Given the description of an element on the screen output the (x, y) to click on. 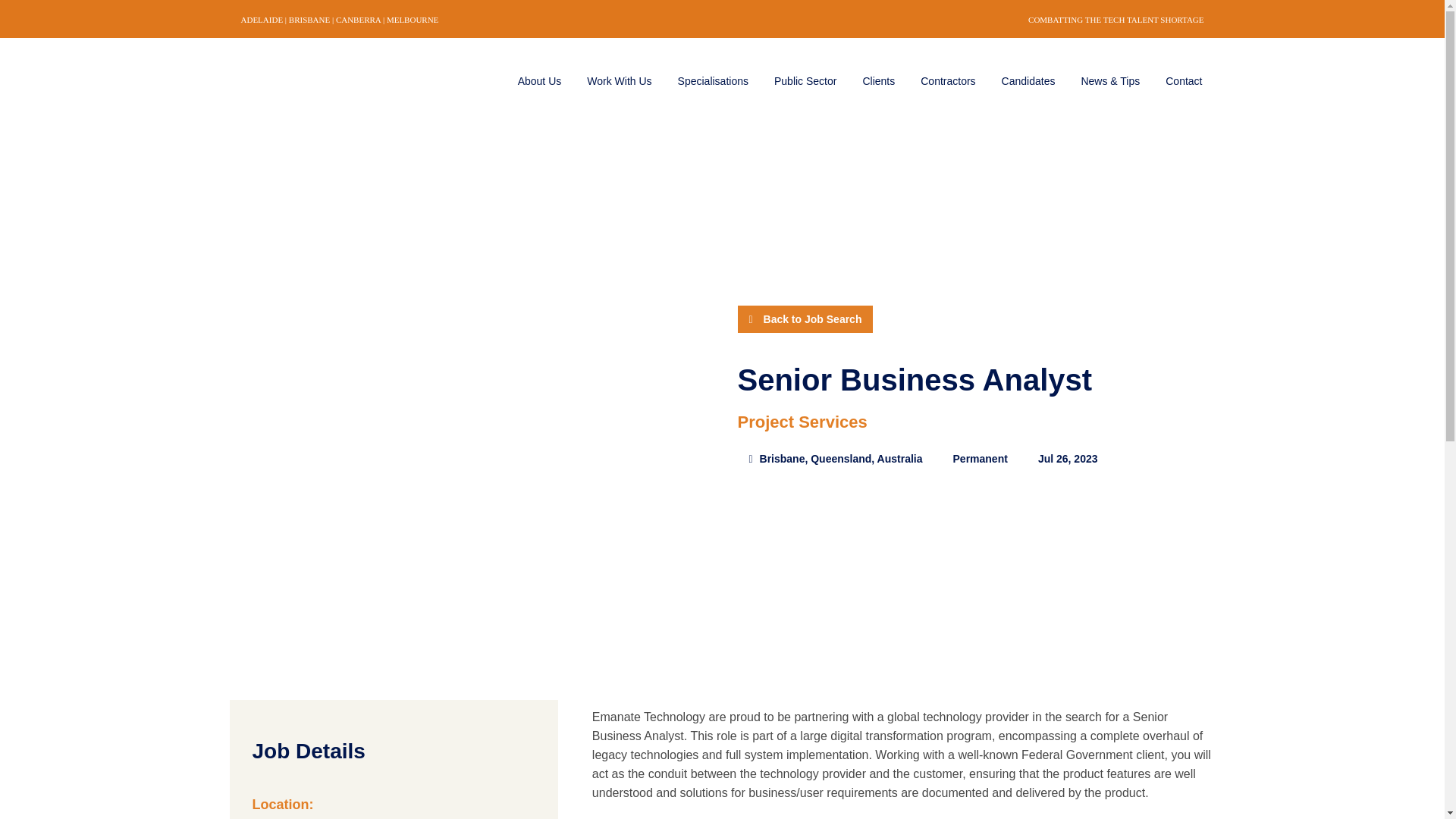
Public Sector (804, 80)
Work With Us (618, 80)
Specialisations (713, 80)
Contractors (947, 80)
Candidates (1028, 80)
